Given the description of an element on the screen output the (x, y) to click on. 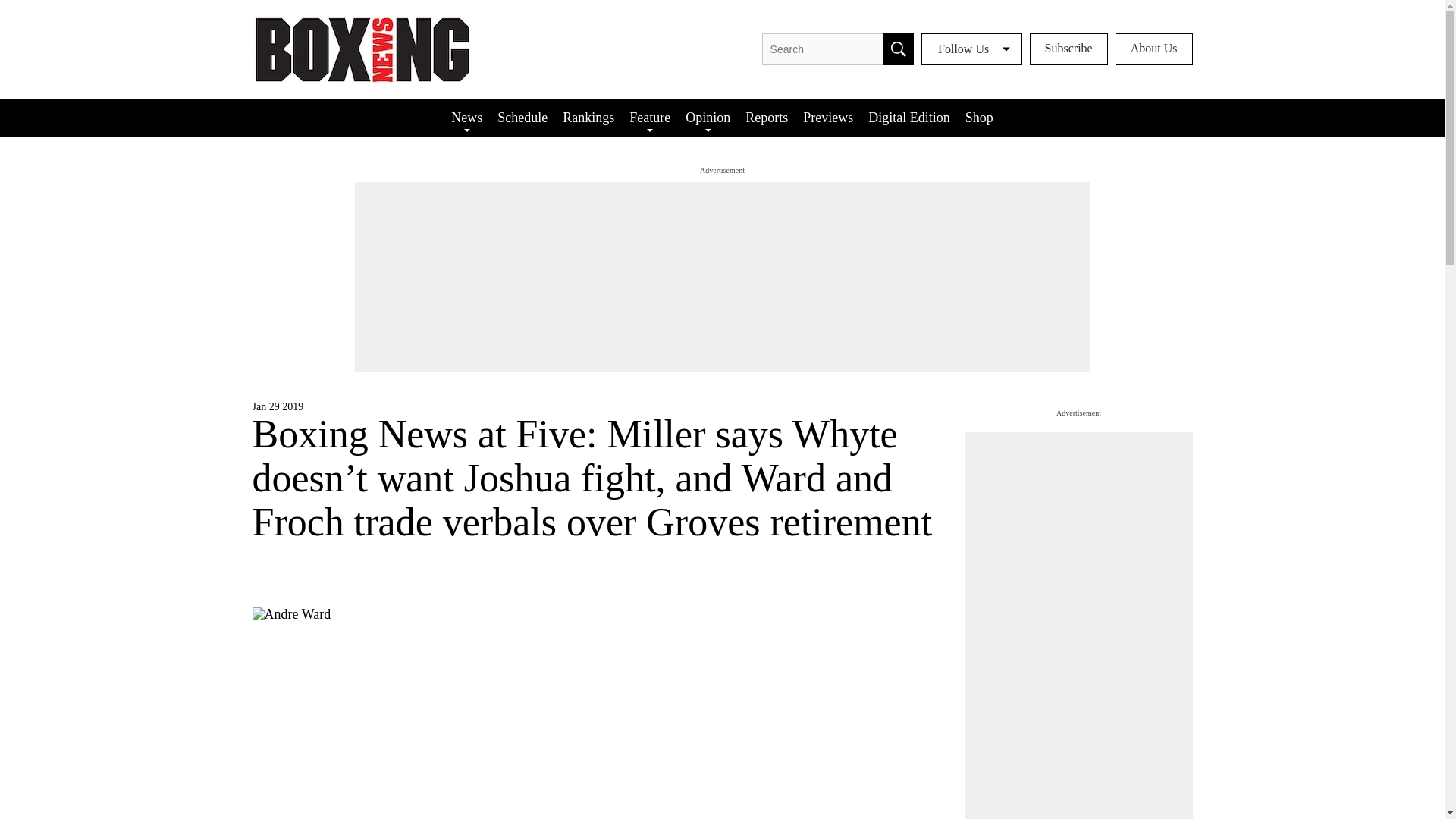
Digital Edition (909, 117)
Follow Us (971, 49)
Reports (766, 117)
Previews (827, 117)
About Us (1153, 49)
Feature (649, 117)
Shop (979, 117)
Search (898, 49)
Subscribe (1068, 49)
Schedule (521, 117)
Rankings (587, 117)
Opinion (708, 117)
News (466, 117)
